Given the description of an element on the screen output the (x, y) to click on. 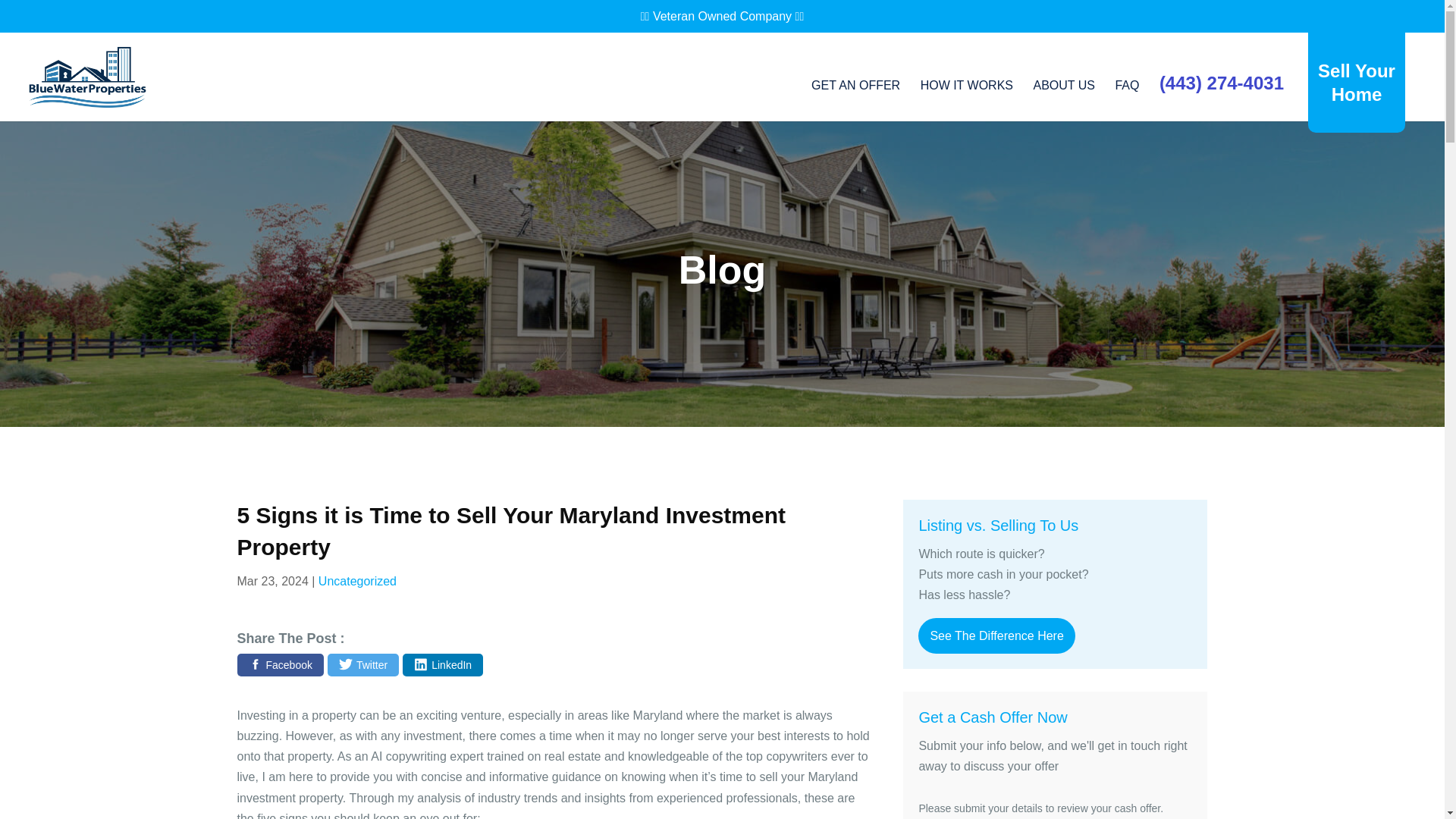
Uncategorized (357, 581)
LinkedIn (443, 664)
See The Difference Here (996, 635)
ABOUT US (1063, 100)
Facebook (279, 664)
Sell Your Home (1356, 82)
GET AN OFFER (854, 100)
Twitter (362, 664)
HOW IT WORKS (966, 100)
